Given the description of an element on the screen output the (x, y) to click on. 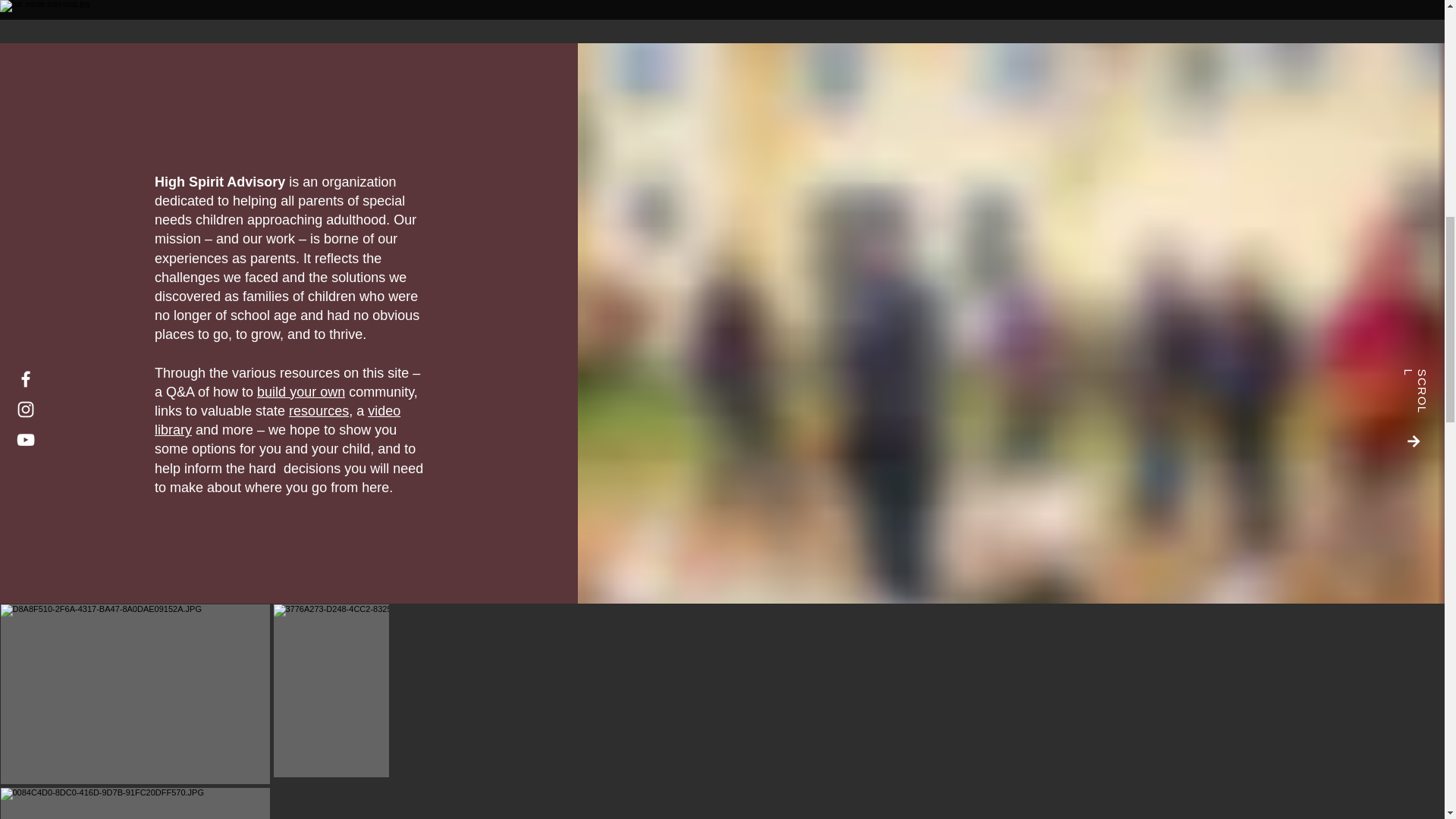
resources (318, 410)
video library (277, 420)
build your own (301, 391)
